Given the description of an element on the screen output the (x, y) to click on. 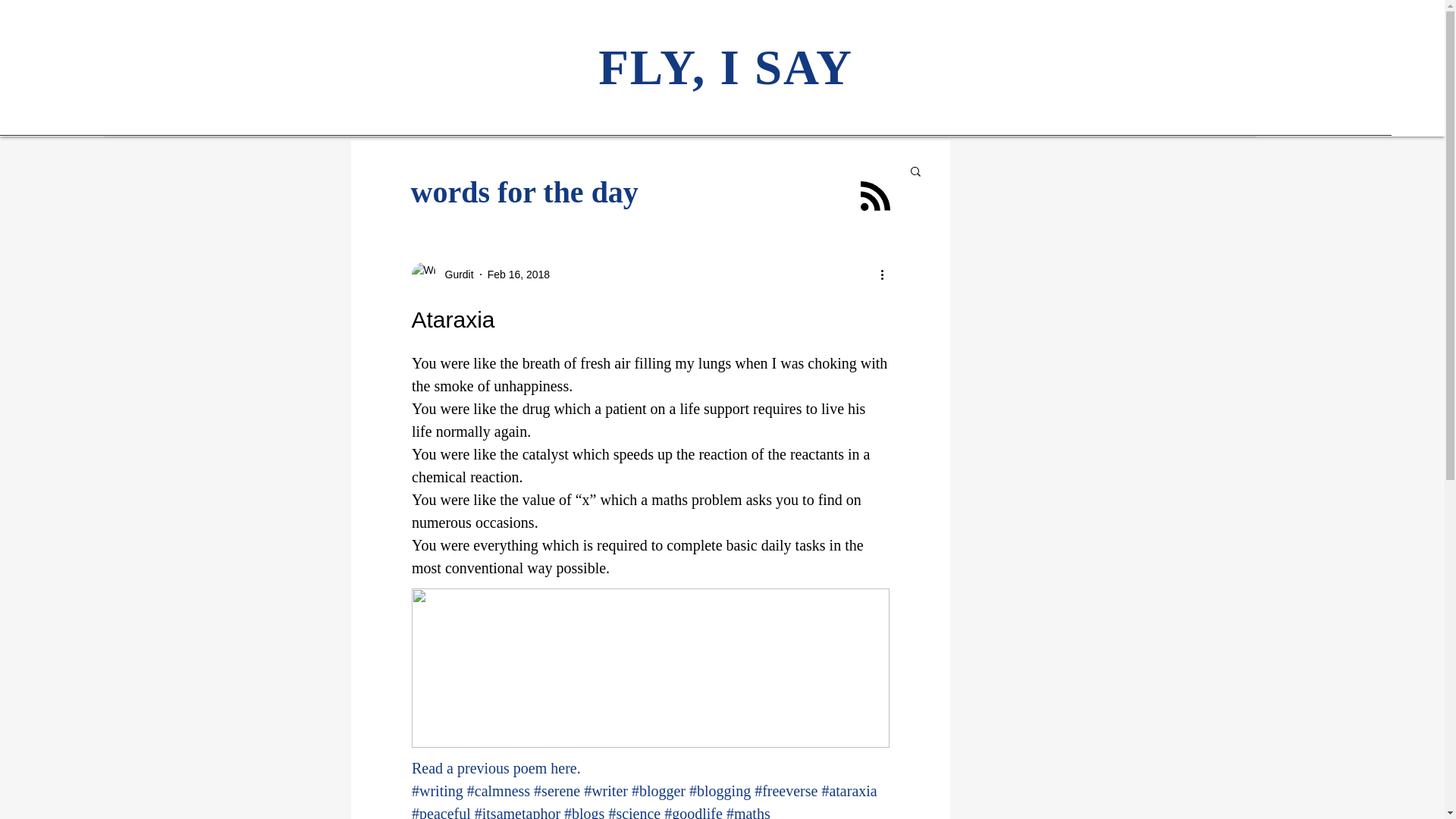
AY (818, 67)
Gurdit (441, 274)
Feb 16, 2018 (518, 274)
Read a previous poem here. (494, 768)
Gurdit (454, 274)
FLY, I S (690, 67)
